Given the description of an element on the screen output the (x, y) to click on. 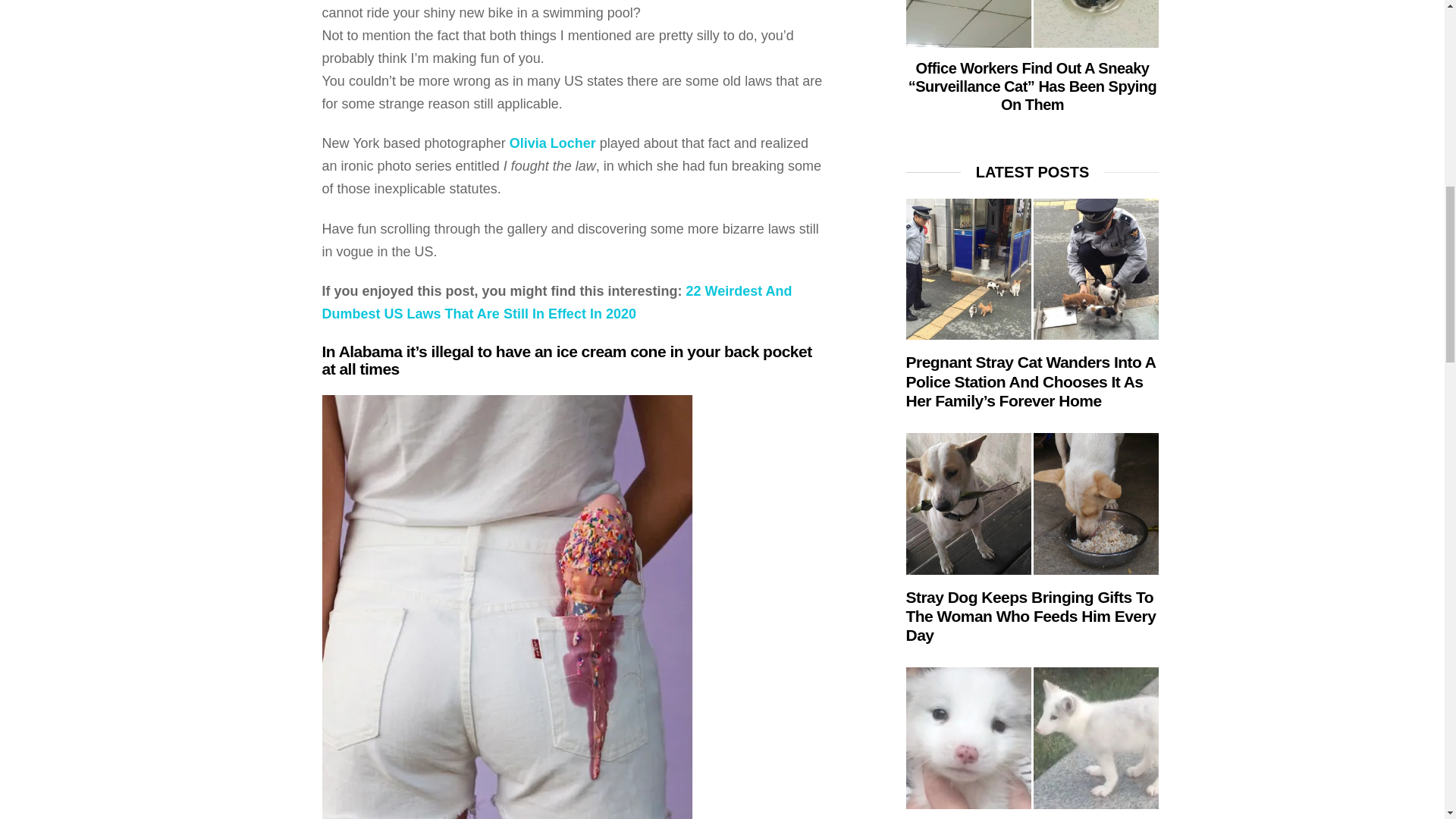
Olivia Locher (552, 142)
